Given the description of an element on the screen output the (x, y) to click on. 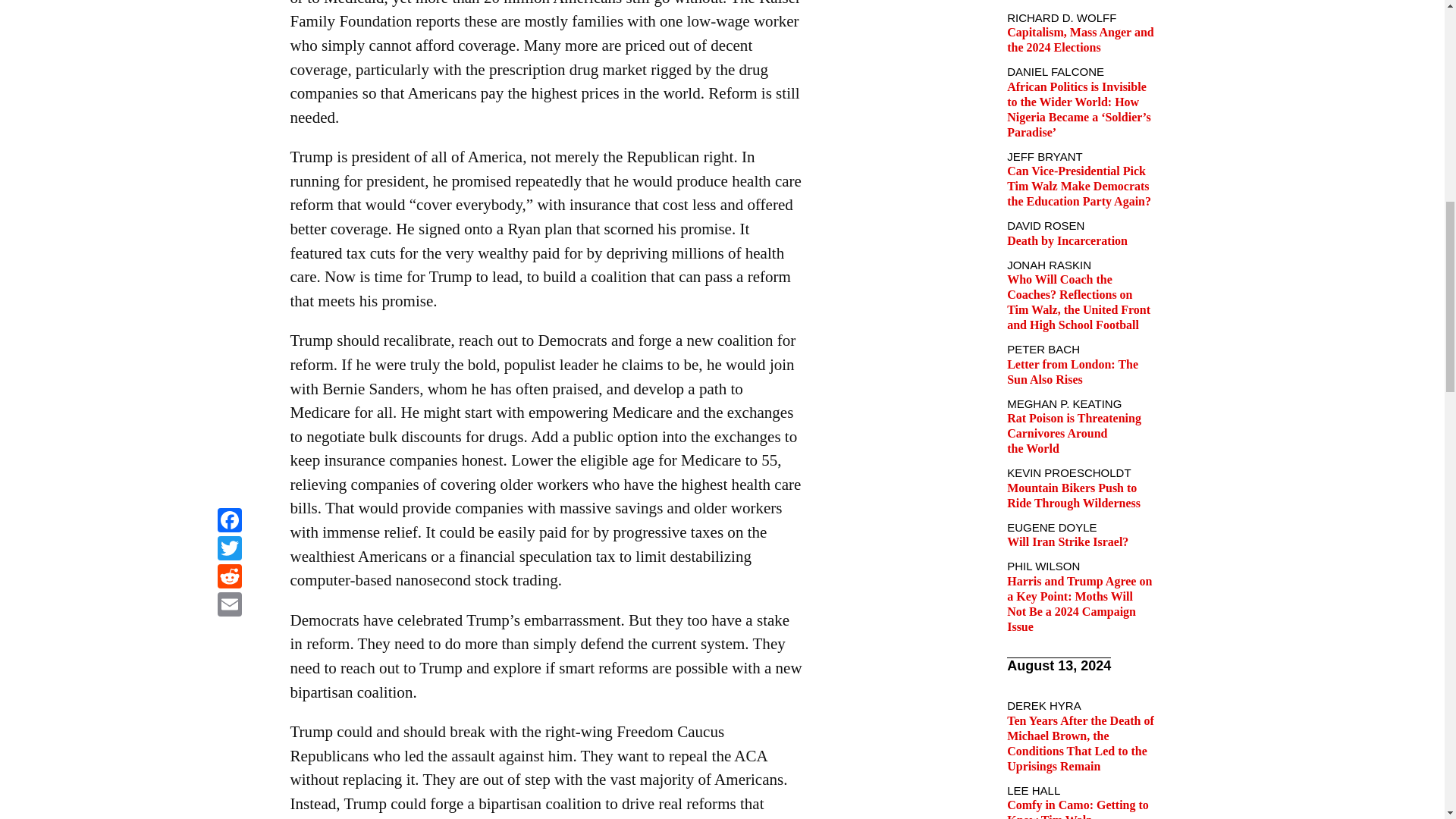
Death by Incarceration (1066, 240)
Capitalism, Mass Anger and the 2024 Elections (1080, 39)
